Given the description of an element on the screen output the (x, y) to click on. 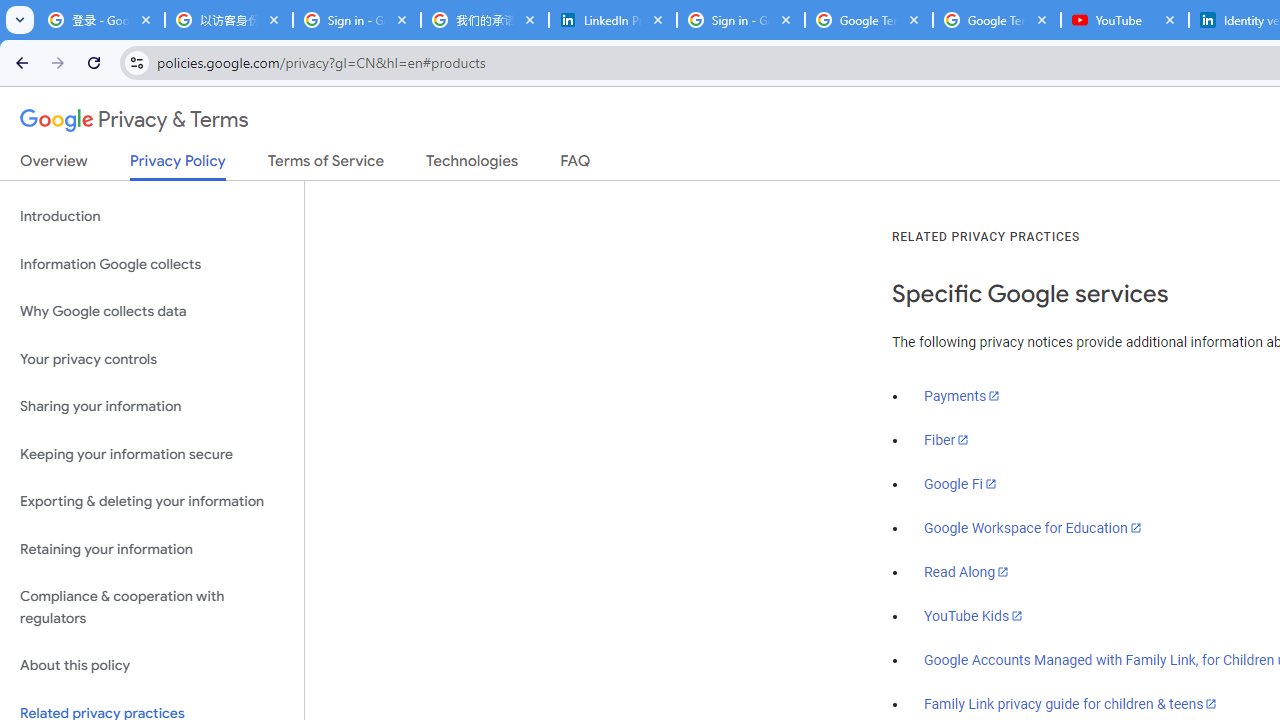
YouTube (1125, 20)
Google Workspace for Education (1032, 528)
Google Fi (960, 484)
YouTube Kids (974, 615)
Your privacy controls (152, 358)
Keeping your information secure (152, 453)
Payments (962, 395)
Privacy Policy (177, 166)
About this policy (152, 666)
Introduction (152, 216)
Terms of Service (326, 165)
Why Google collects data (152, 312)
